Given the description of an element on the screen output the (x, y) to click on. 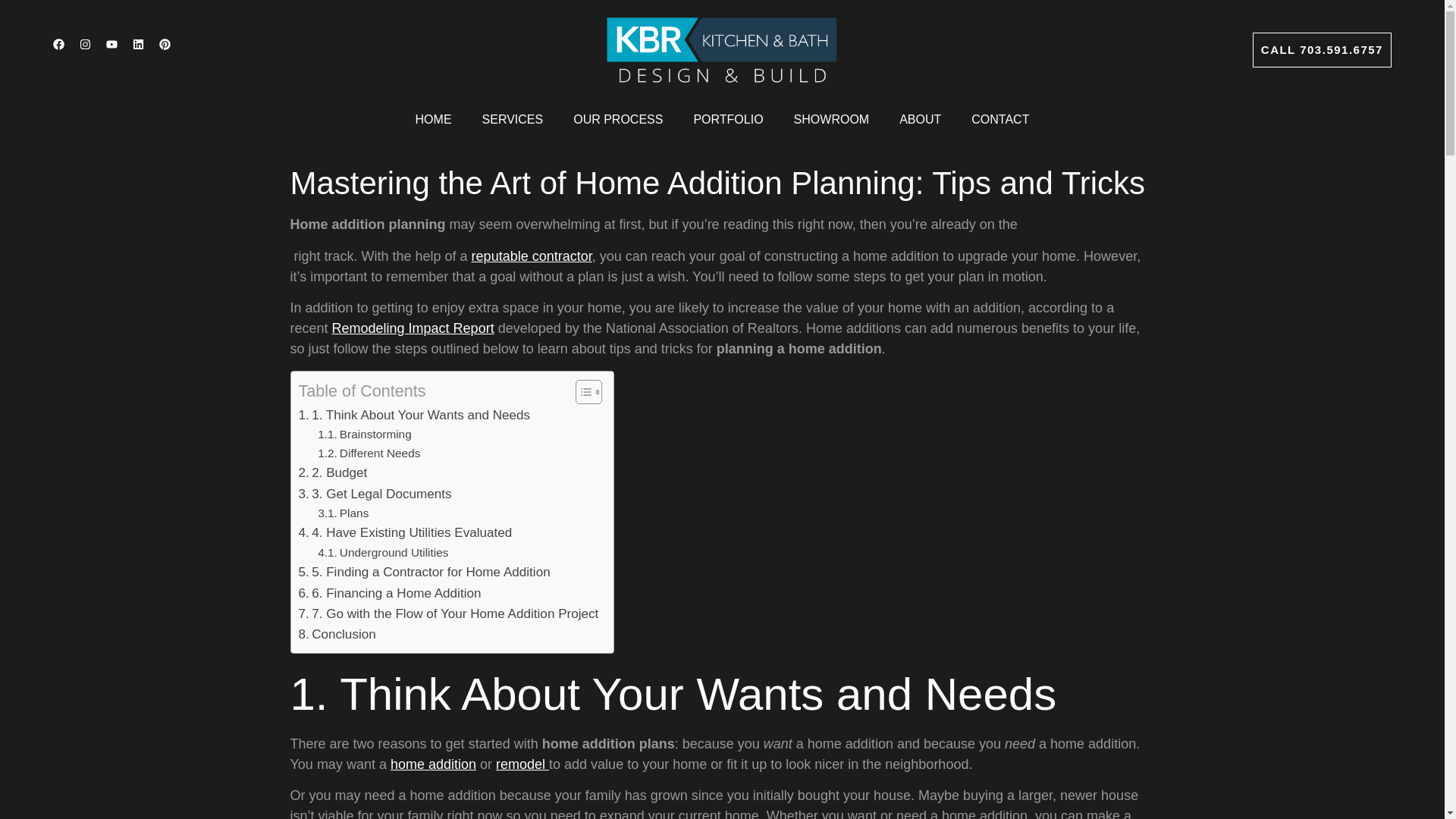
Brainstorming (364, 434)
1. Think About Your Wants and Needs (414, 415)
Underground Utilities (382, 552)
2. Budget (333, 473)
HOME (433, 79)
Plans (342, 513)
Different Needs (368, 453)
6. Financing a Home Addition (389, 593)
Conclusion (336, 634)
4. Have Existing Utilities Evaluated (405, 532)
SERVICES (513, 83)
3. Get Legal Documents (374, 493)
OUR PROCESS (617, 119)
7. Go with the Flow of Your Home Addition Project (448, 614)
